Given the description of an element on the screen output the (x, y) to click on. 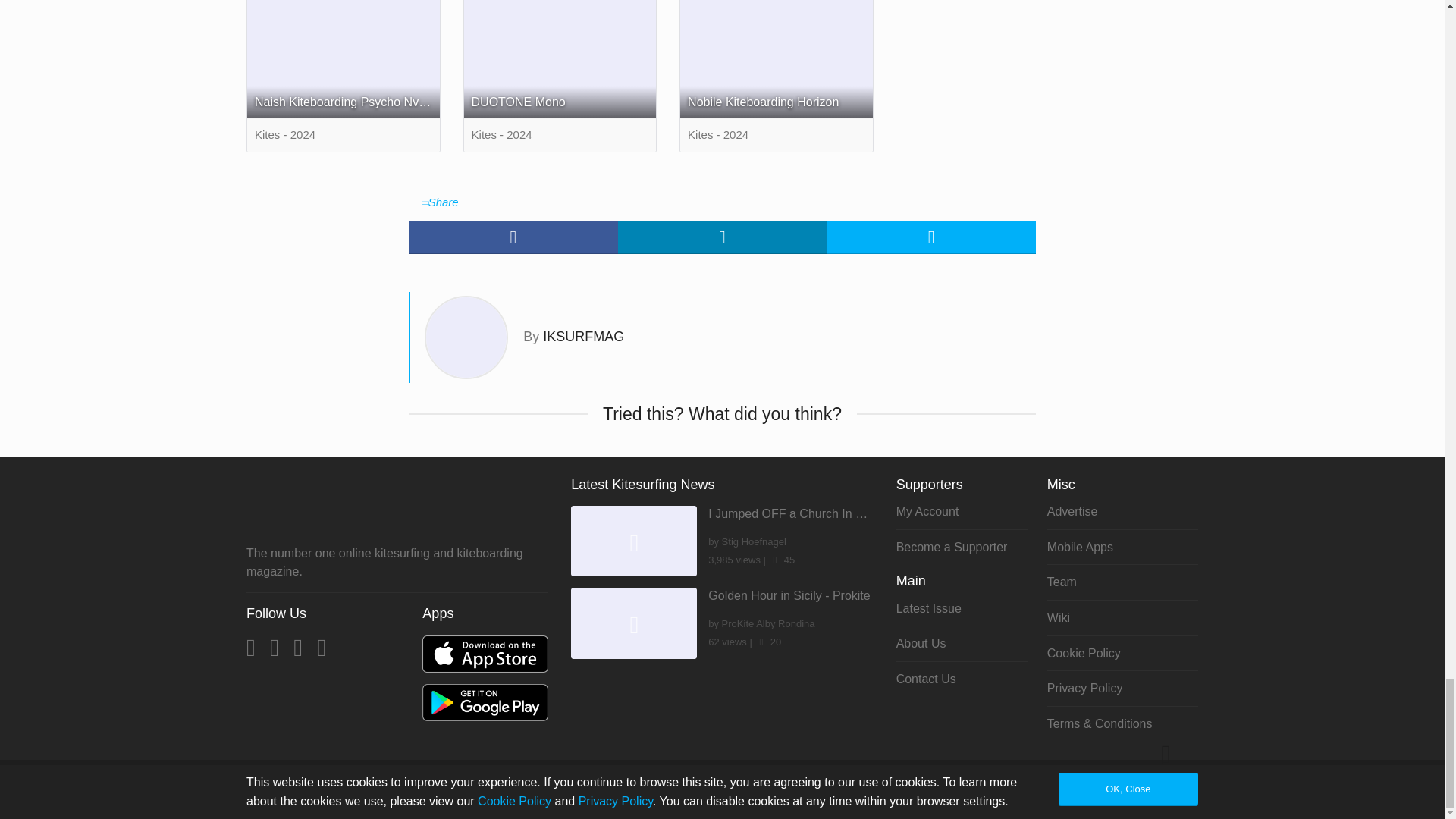
Back to top (1167, 780)
